Given the description of an element on the screen output the (x, y) to click on. 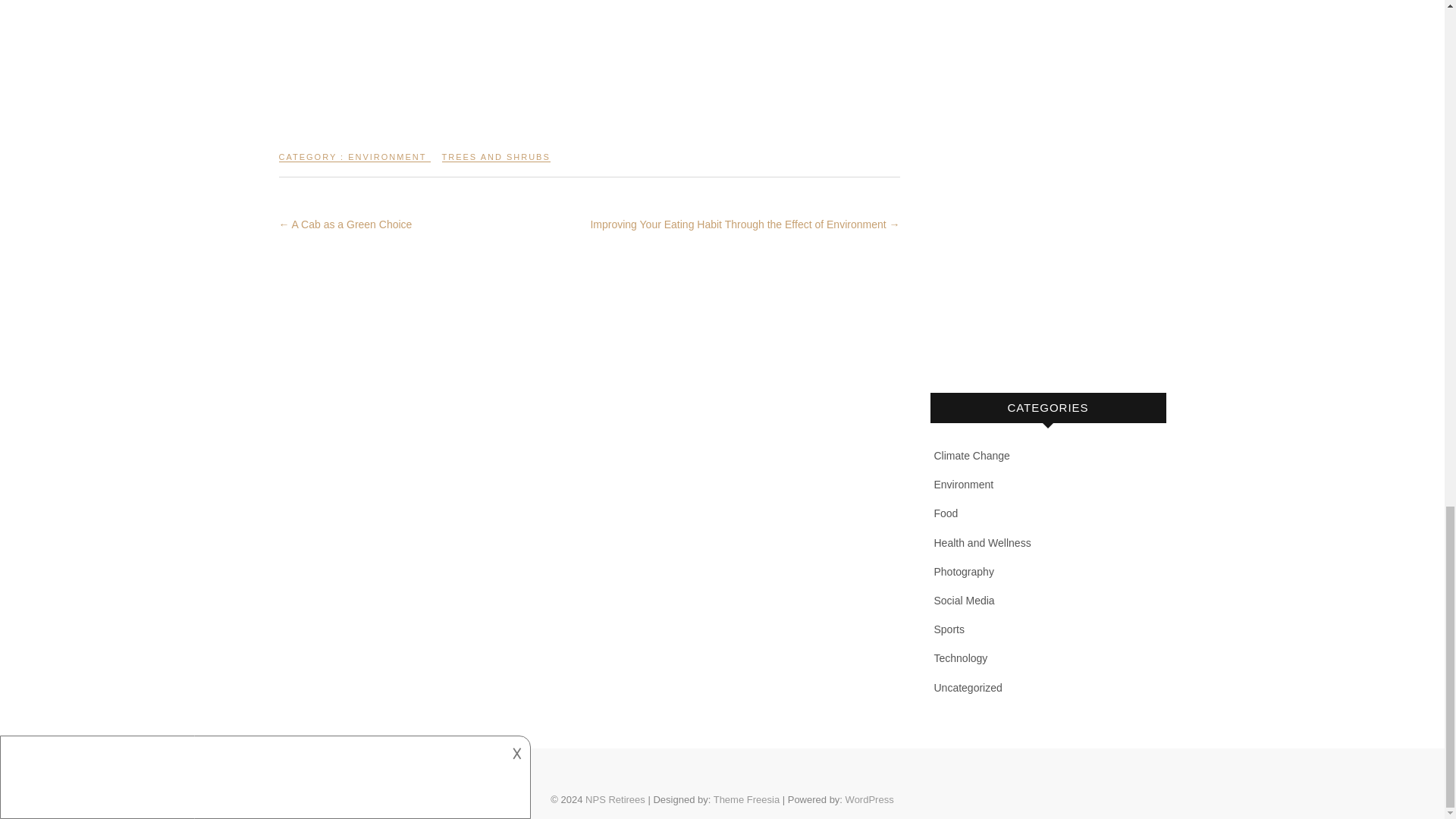
Theme Freesia (745, 799)
NPS Retirees (615, 799)
WordPress (869, 799)
